Given the description of an element on the screen output the (x, y) to click on. 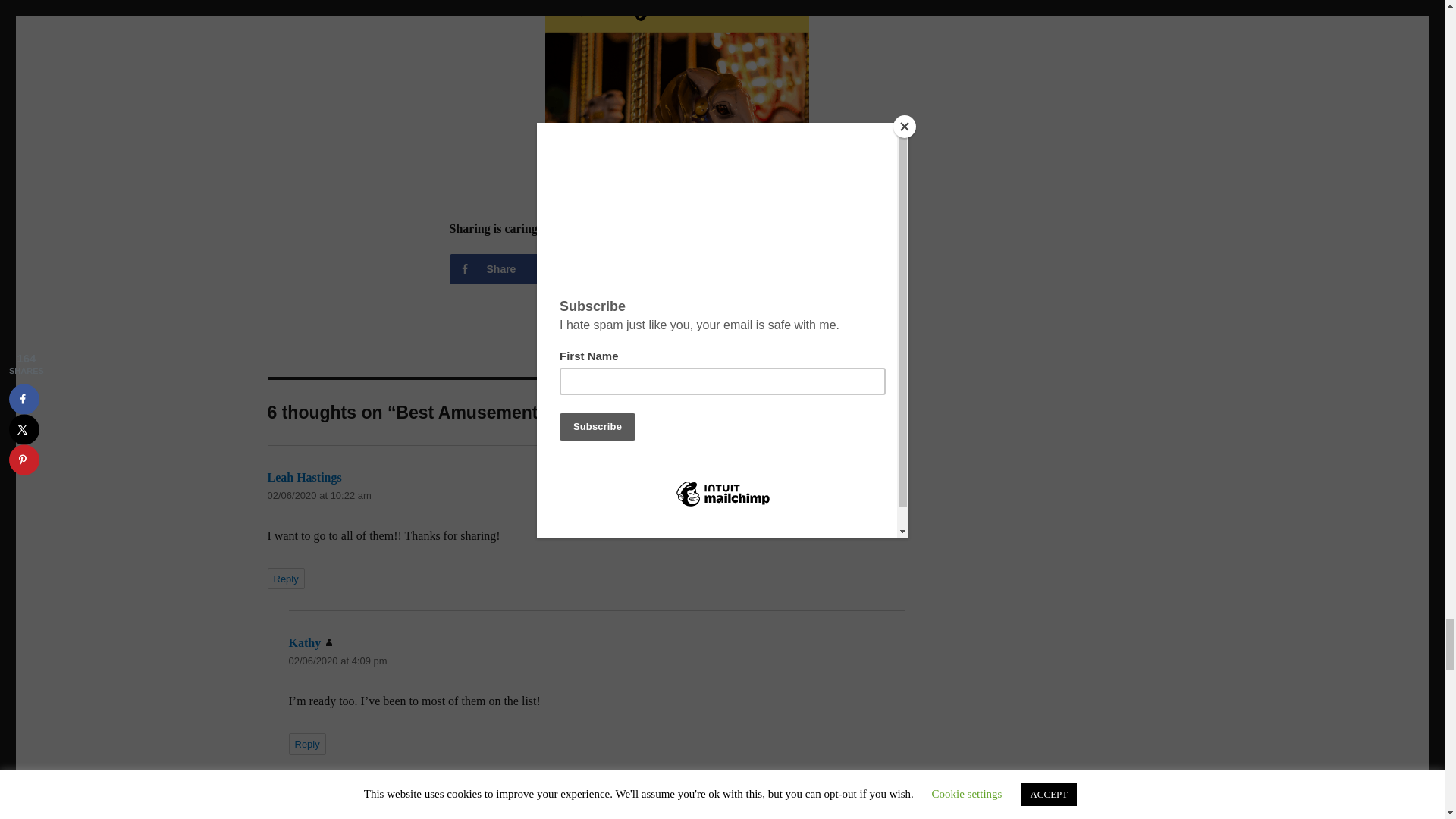
Pin (831, 268)
Leah Hastings (303, 477)
Amy (279, 807)
Reply (306, 743)
Share (521, 268)
Reply (285, 578)
Tweet (676, 268)
Kathy (304, 642)
